Given the description of an element on the screen output the (x, y) to click on. 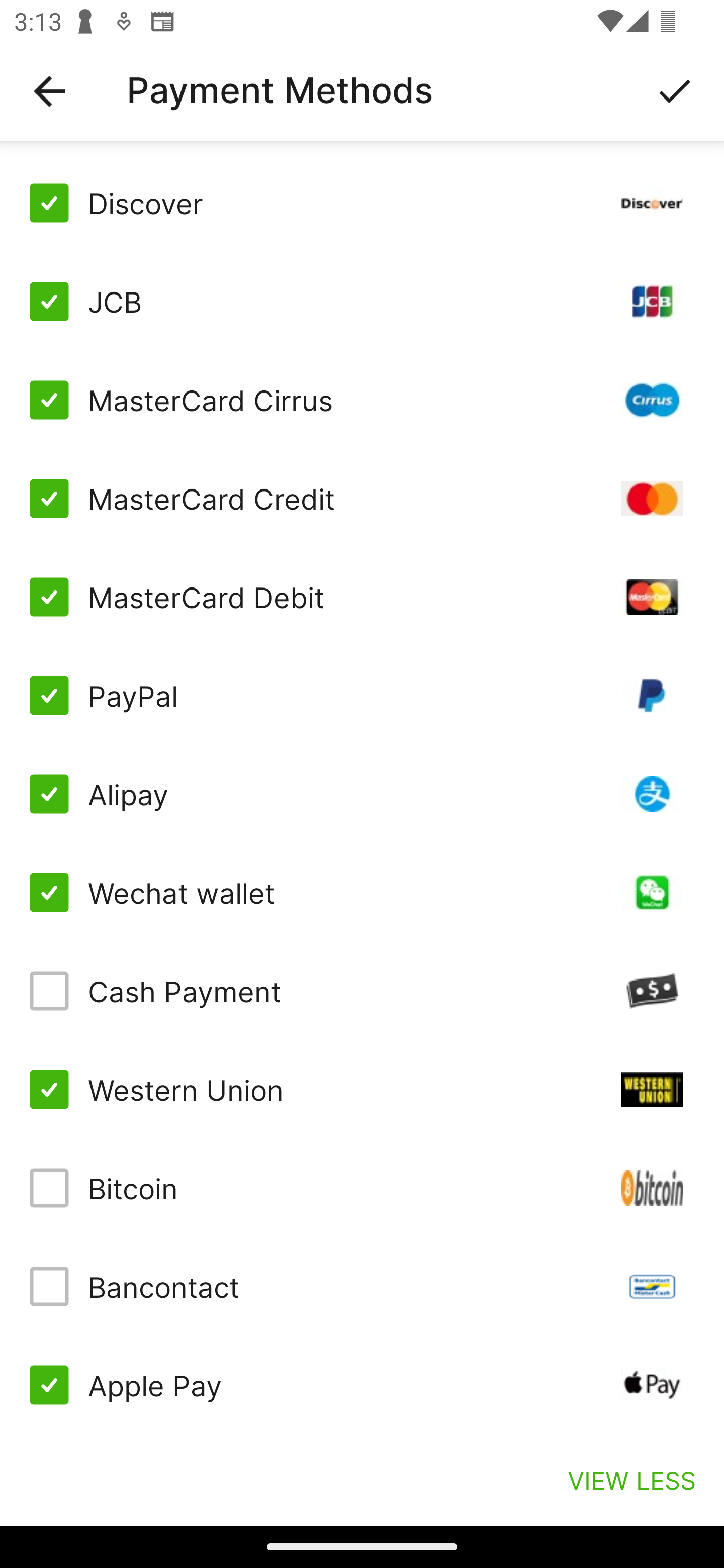
Discover (362, 202)
JCB (362, 301)
MasterCard Cirrus (362, 400)
MasterCard Credit (362, 498)
MasterCard Debit (362, 596)
PayPal (362, 695)
Alipay (362, 793)
Wechat wallet (362, 892)
Cash Payment (362, 990)
Western Union (362, 1088)
Bitcoin (362, 1187)
Bancontact (362, 1286)
Apple Pay (362, 1384)
VIEW LESS (631, 1479)
